Given the description of an element on the screen output the (x, y) to click on. 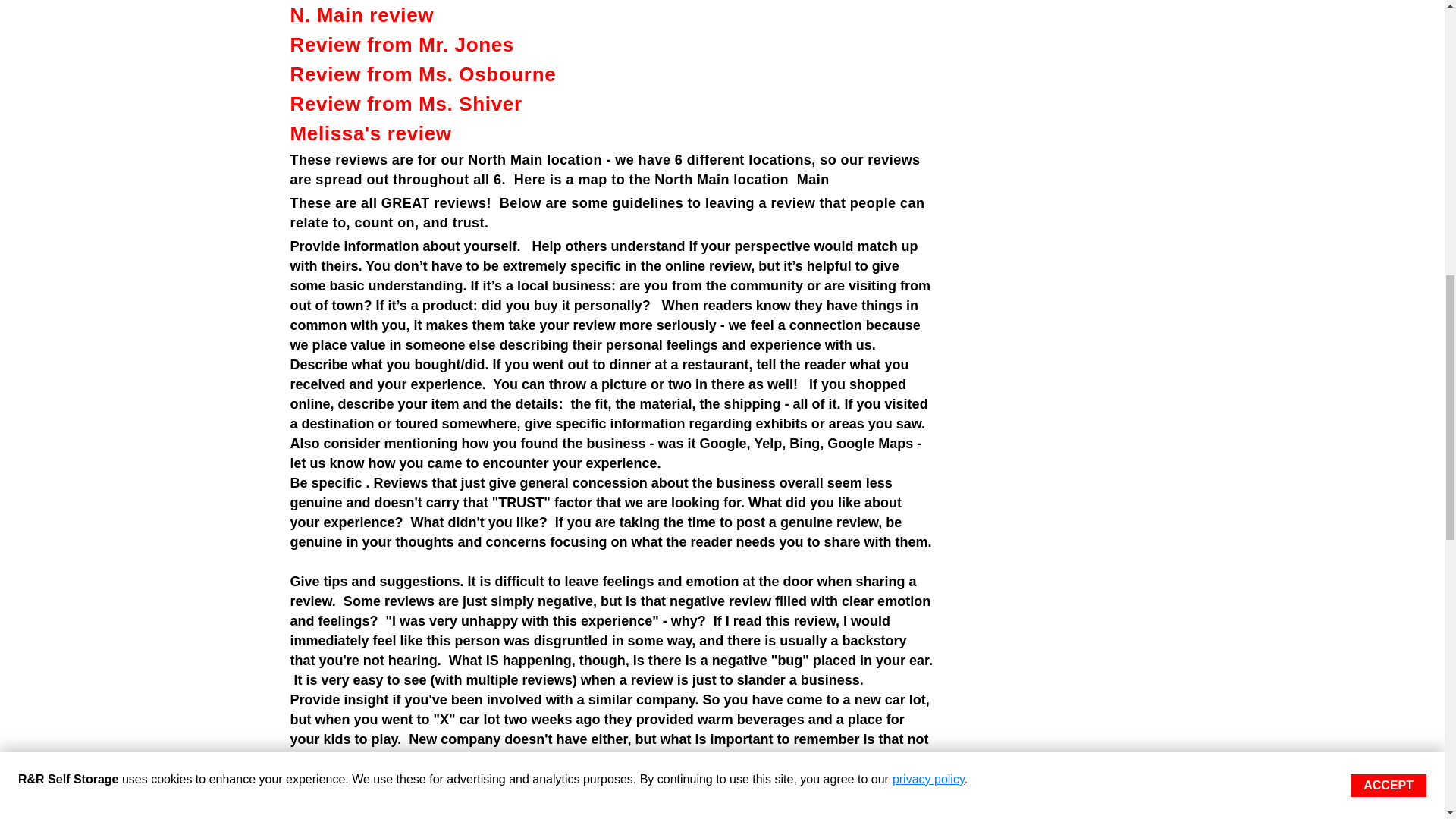
Review from Mr. Jones (401, 44)
N. Main review (361, 15)
Melissa's review (370, 133)
Review from Ms. Shiver (405, 103)
Main (812, 179)
Bing (804, 443)
Google Maps (869, 443)
Yelp (767, 443)
Review from Ms. Osbourne (422, 74)
Google (723, 443)
